Given the description of an element on the screen output the (x, y) to click on. 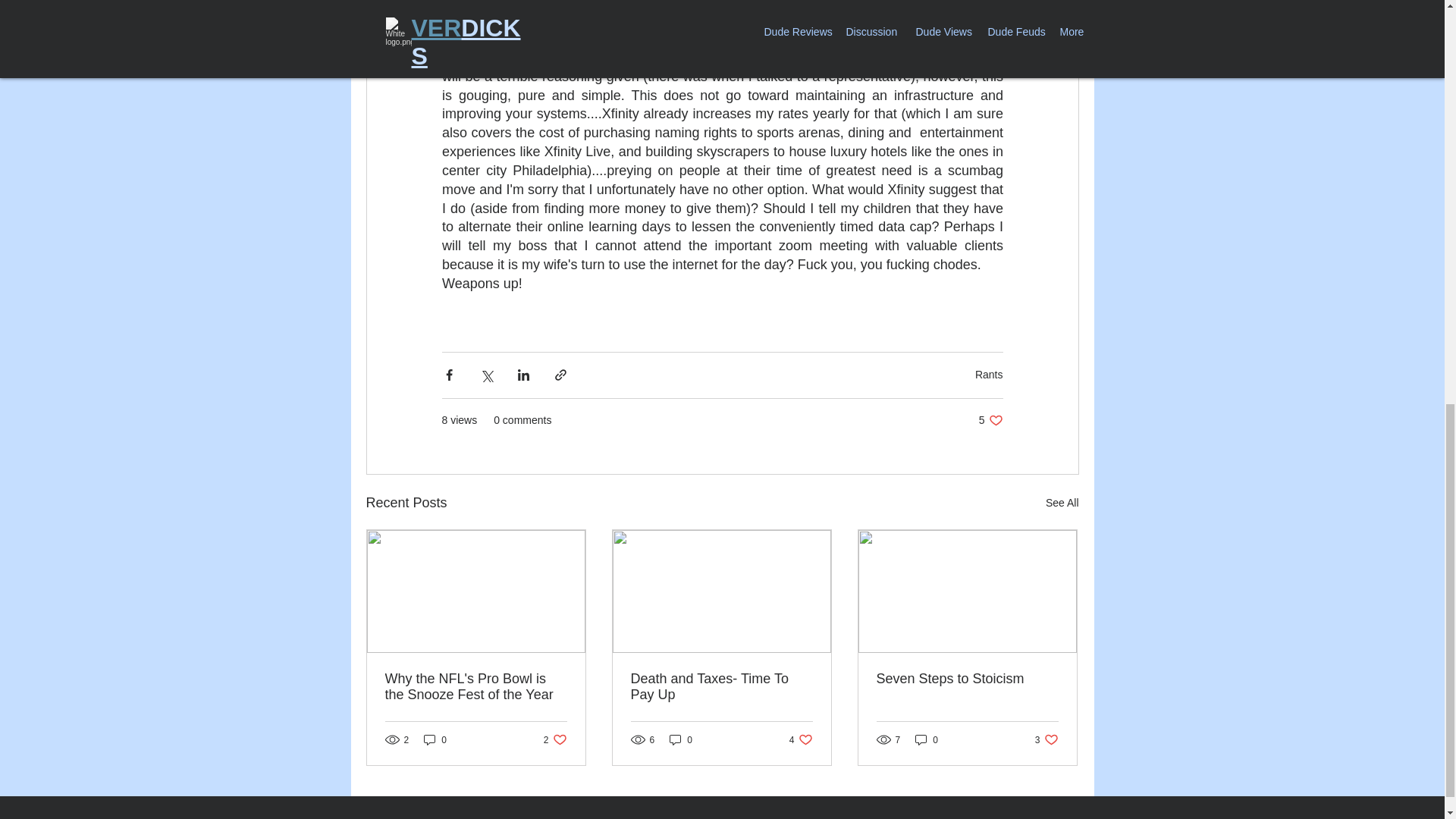
0 (1046, 739)
0 (435, 739)
0 (990, 420)
Seven Steps to Stoicism (926, 739)
Rants (681, 739)
Death and Taxes- Time To Pay Up (800, 739)
See All (967, 678)
